Given the description of an element on the screen output the (x, y) to click on. 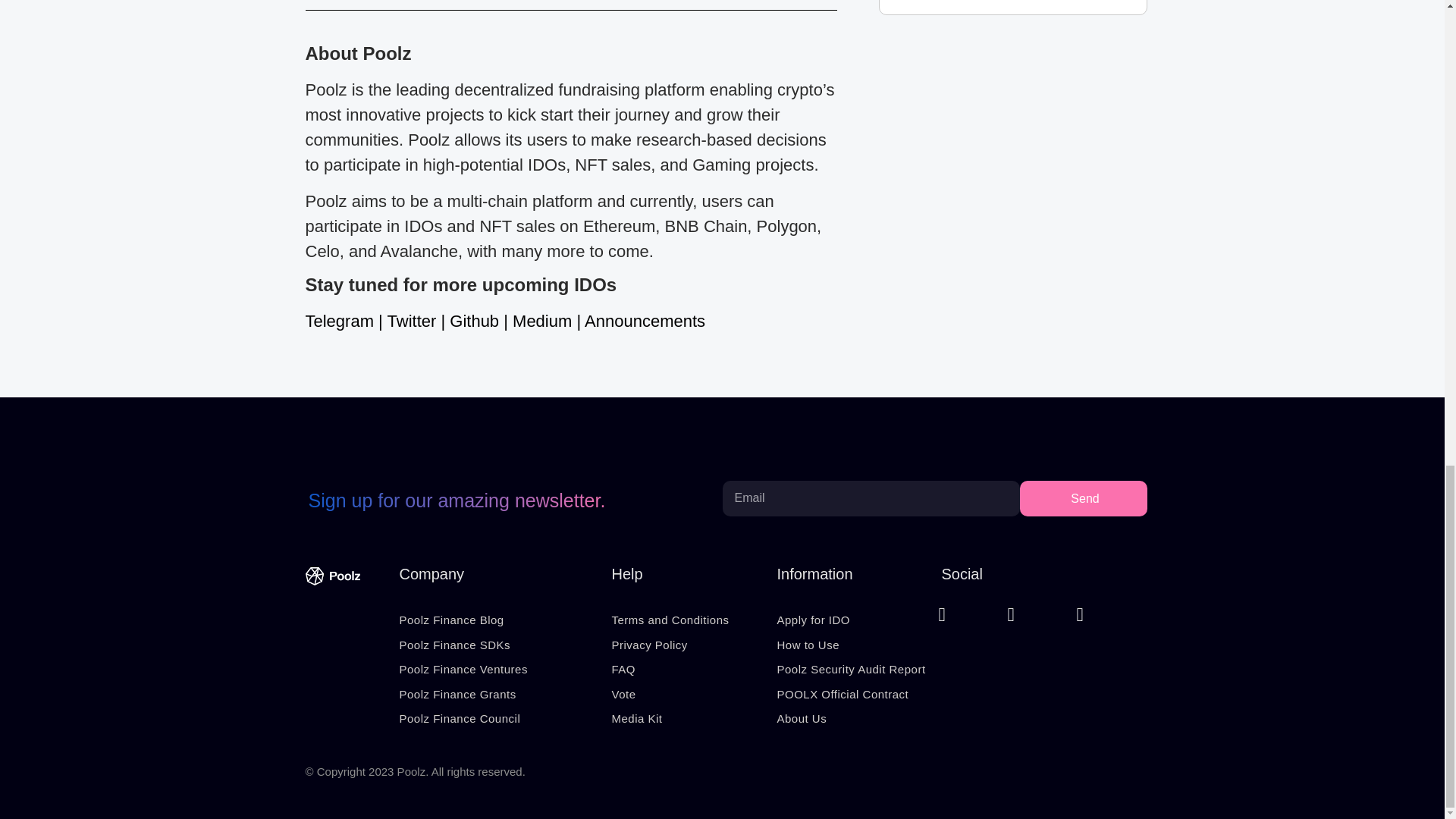
Github (474, 321)
Medium (542, 321)
Twitter (411, 321)
Announcements (644, 321)
Telegram (338, 321)
